Given the description of an element on the screen output the (x, y) to click on. 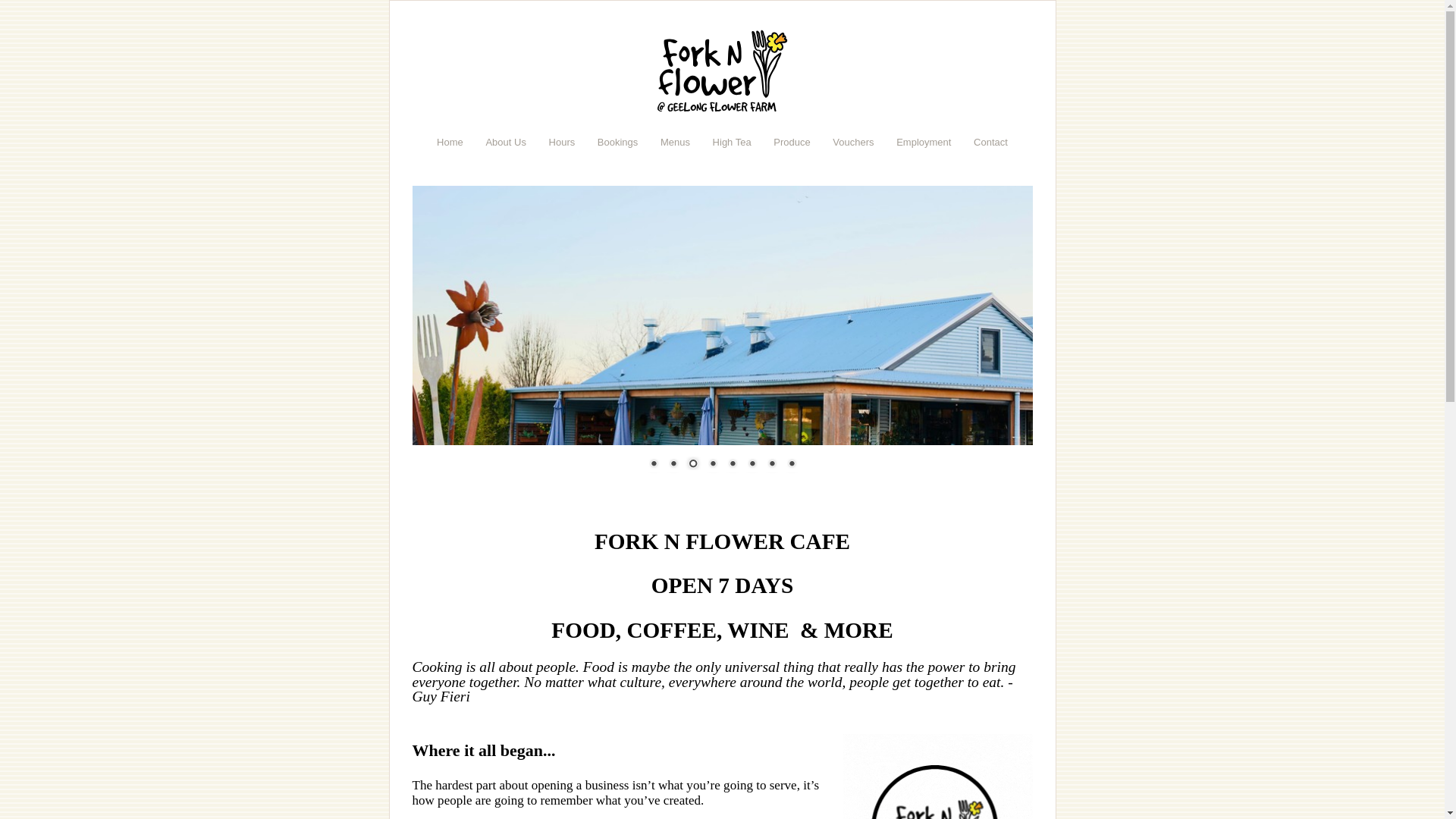
2 Element type: text (672, 464)
5 Element type: text (731, 464)
7 Element type: text (770, 464)
Home Element type: text (449, 142)
Bookings Element type: text (617, 142)
Menus Element type: text (675, 142)
High Tea Element type: text (731, 142)
Contact Element type: text (990, 142)
8 Element type: text (790, 464)
Produce Element type: text (791, 142)
3 Element type: text (692, 464)
1 Element type: text (652, 464)
Hours Element type: text (562, 142)
6 Element type: text (751, 464)
Vouchers Element type: text (852, 142)
About Us Element type: text (505, 142)
4 Element type: text (711, 464)
Employment Element type: text (923, 142)
